Given the description of an element on the screen output the (x, y) to click on. 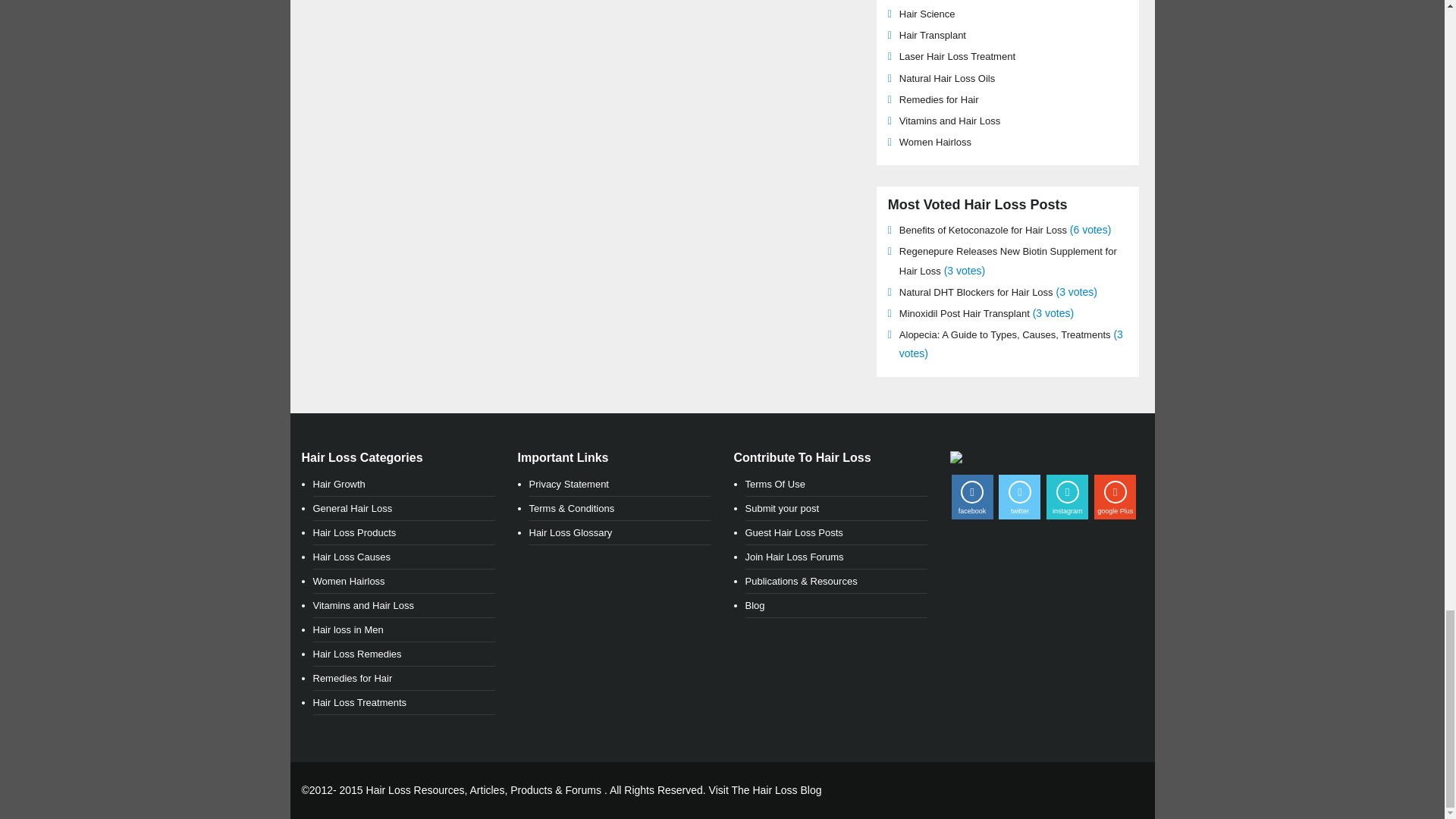
Google Plus (1114, 497)
Facebook (971, 497)
Twitter (1019, 497)
Instagram (1066, 497)
